Given the description of an element on the screen output the (x, y) to click on. 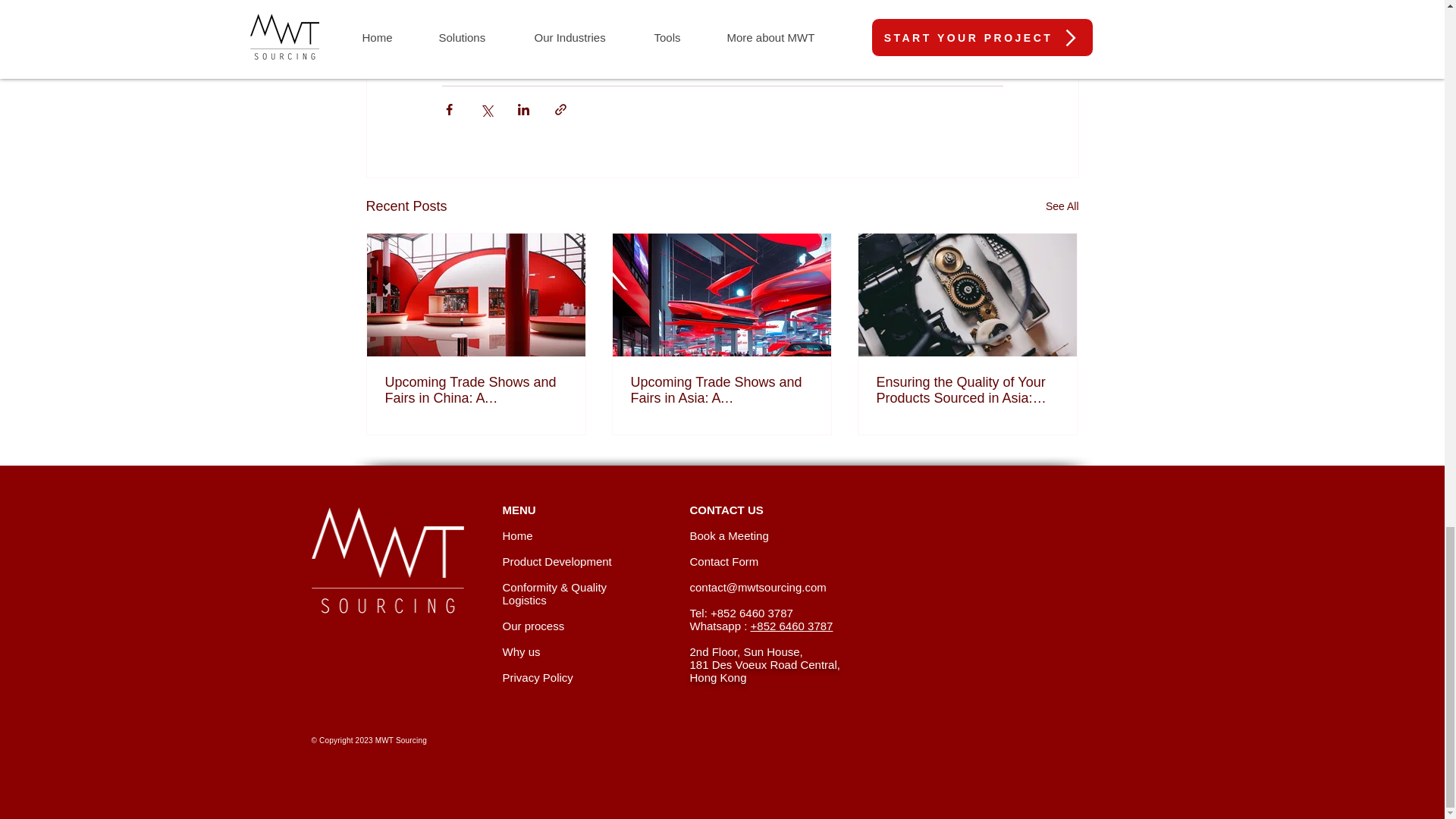
See All (1061, 206)
